Given the description of an element on the screen output the (x, y) to click on. 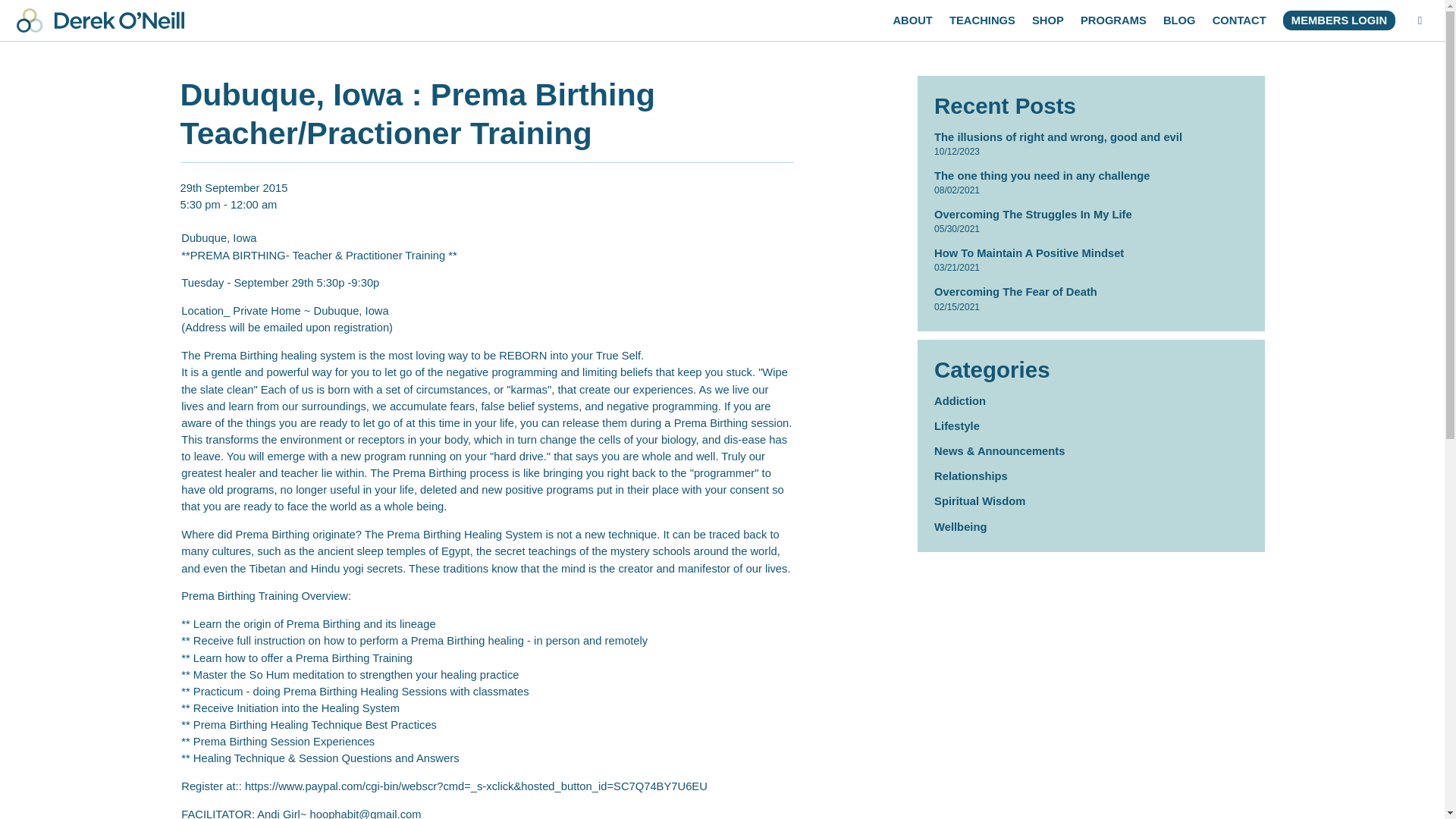
2015-09-30T00:00:00 (254, 204)
Addiction (959, 400)
SHOP (1048, 20)
The one thing you need in any challenge (1042, 175)
Overcoming The Struggles In My Life (1033, 214)
Wellbeing (960, 526)
Overcoming The Fear of Death (1015, 291)
2015-09-29T17:30:00 (234, 195)
BLOG (1179, 20)
Site search (1420, 20)
Lifestyle (956, 426)
Spiritual Wisdom (979, 500)
Relationships (970, 476)
TEACHINGS (981, 20)
How To Maintain A Positive Mindset (1029, 253)
